Given the description of an element on the screen output the (x, y) to click on. 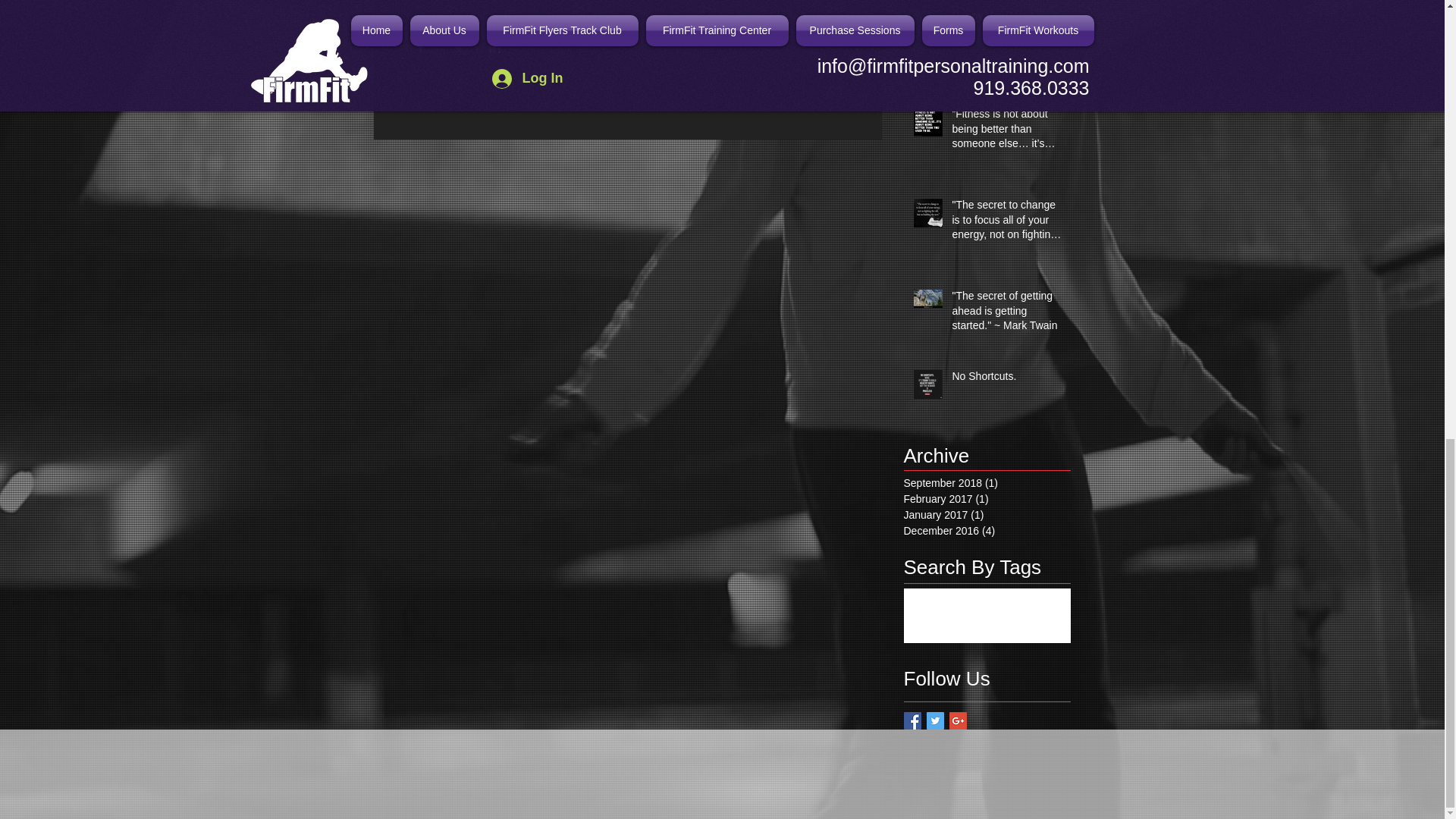
No Shortcuts. (1006, 379)
Post not marked as liked (835, 91)
Happy New Year! (1006, 19)
